Given the description of an element on the screen output the (x, y) to click on. 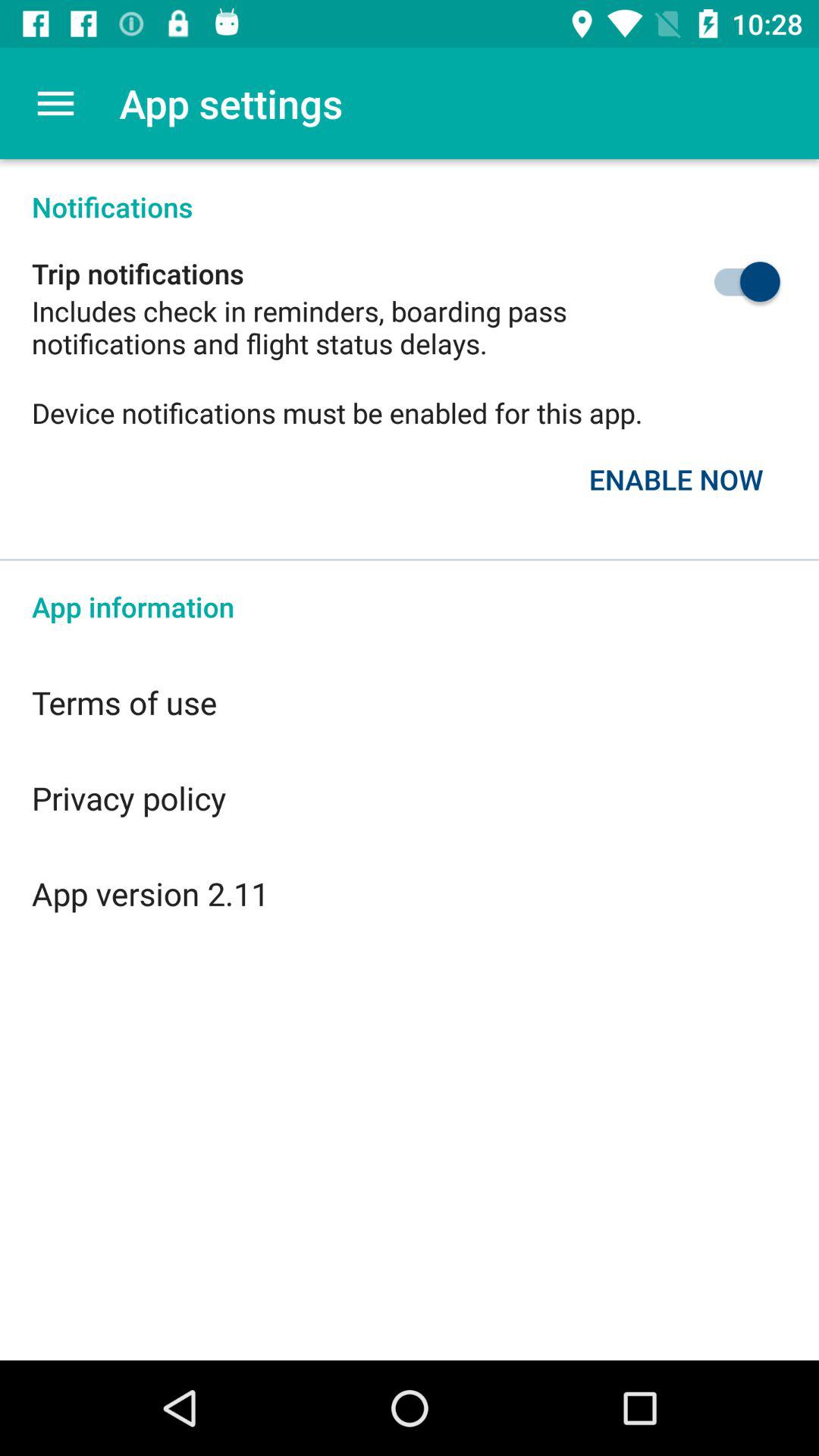
choose the enable now item (676, 479)
